Given the description of an element on the screen output the (x, y) to click on. 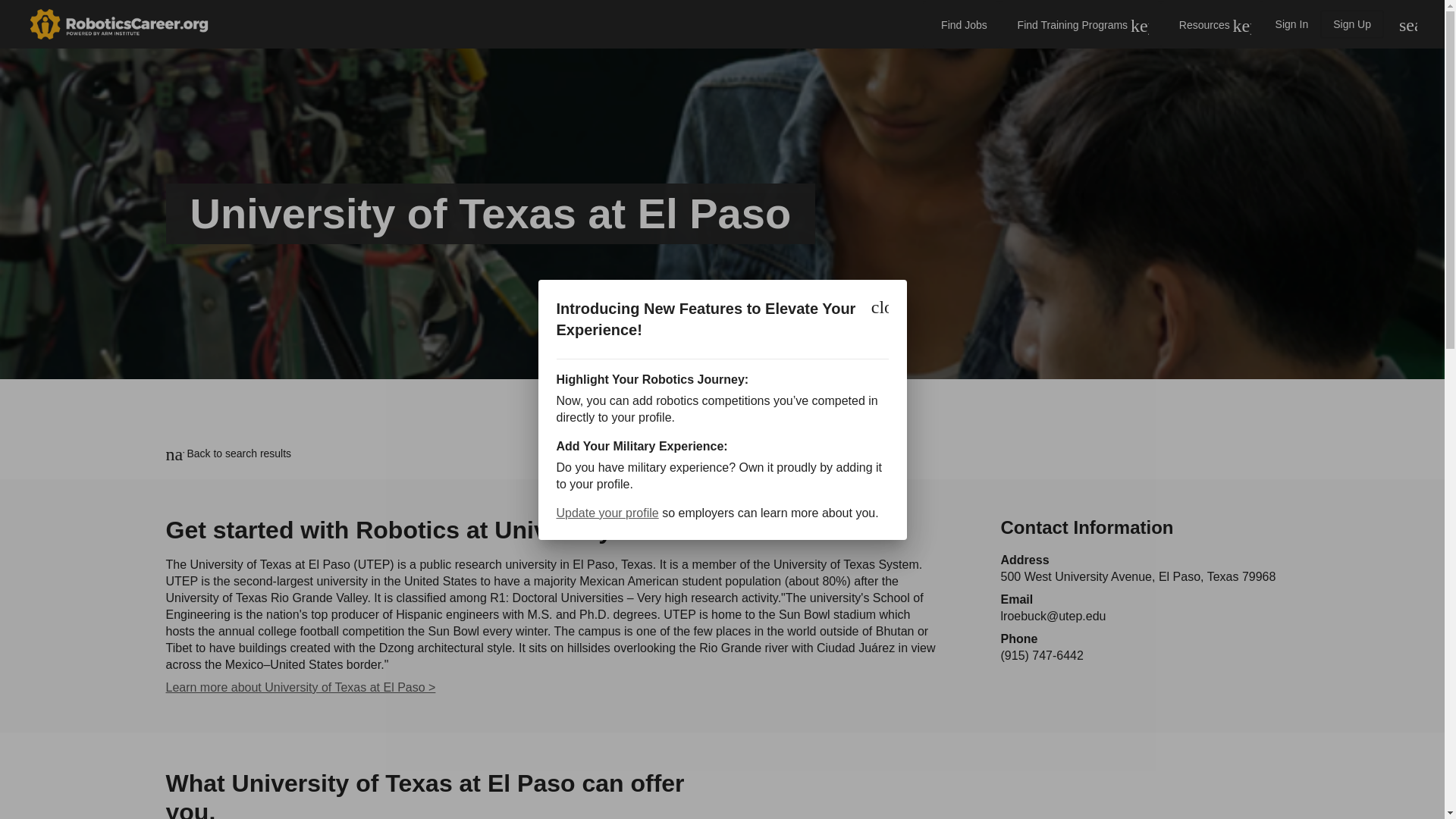
Sign In (1291, 23)
  Find Jobs (960, 23)
search (1408, 24)
Sign Up (1352, 23)
